Given the description of an element on the screen output the (x, y) to click on. 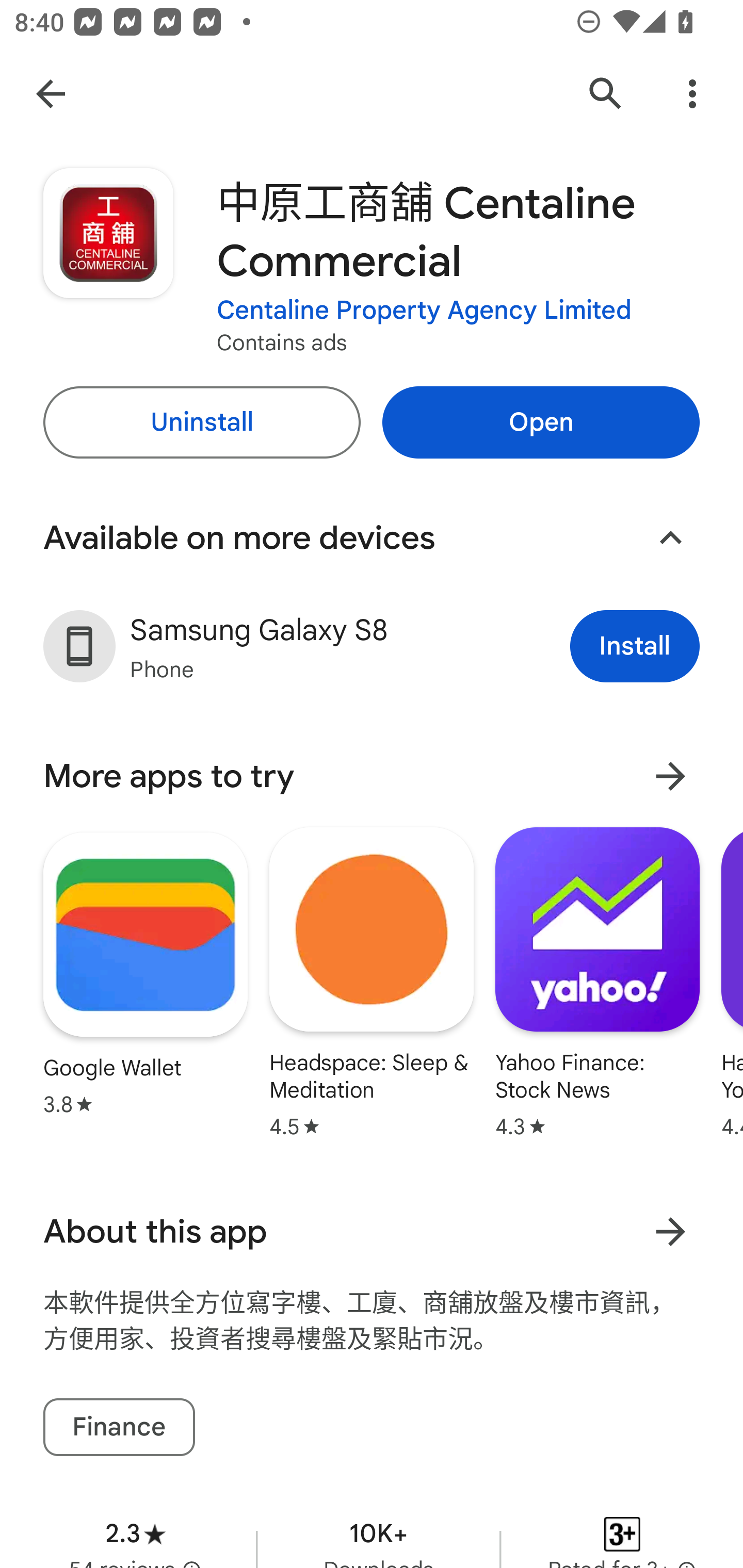
Navigate up (50, 93)
Search Google Play (605, 93)
More Options (692, 93)
Centaline Property Agency Limited (423, 310)
Uninstall (201, 422)
Open (540, 422)
Available on more devices Collapse (371, 537)
Collapse (670, 537)
Install (634, 646)
More apps to try More results for More apps to try (371, 775)
More results for More apps to try (670, 776)
Google Wallet
Star rating: 3.8
 (145, 973)
Headspace: Sleep & Meditation
Star rating: 4.5
 (371, 982)
Yahoo Finance: Stock News
Star rating: 4.3
 (597, 982)
About this app Learn more About this app (371, 1231)
Learn more About this app (670, 1231)
Finance tag (118, 1427)
Average rating 2.3 stars in 54 reviews (135, 1530)
Content rating Rated for 3+ (622, 1530)
